Given the description of an element on the screen output the (x, y) to click on. 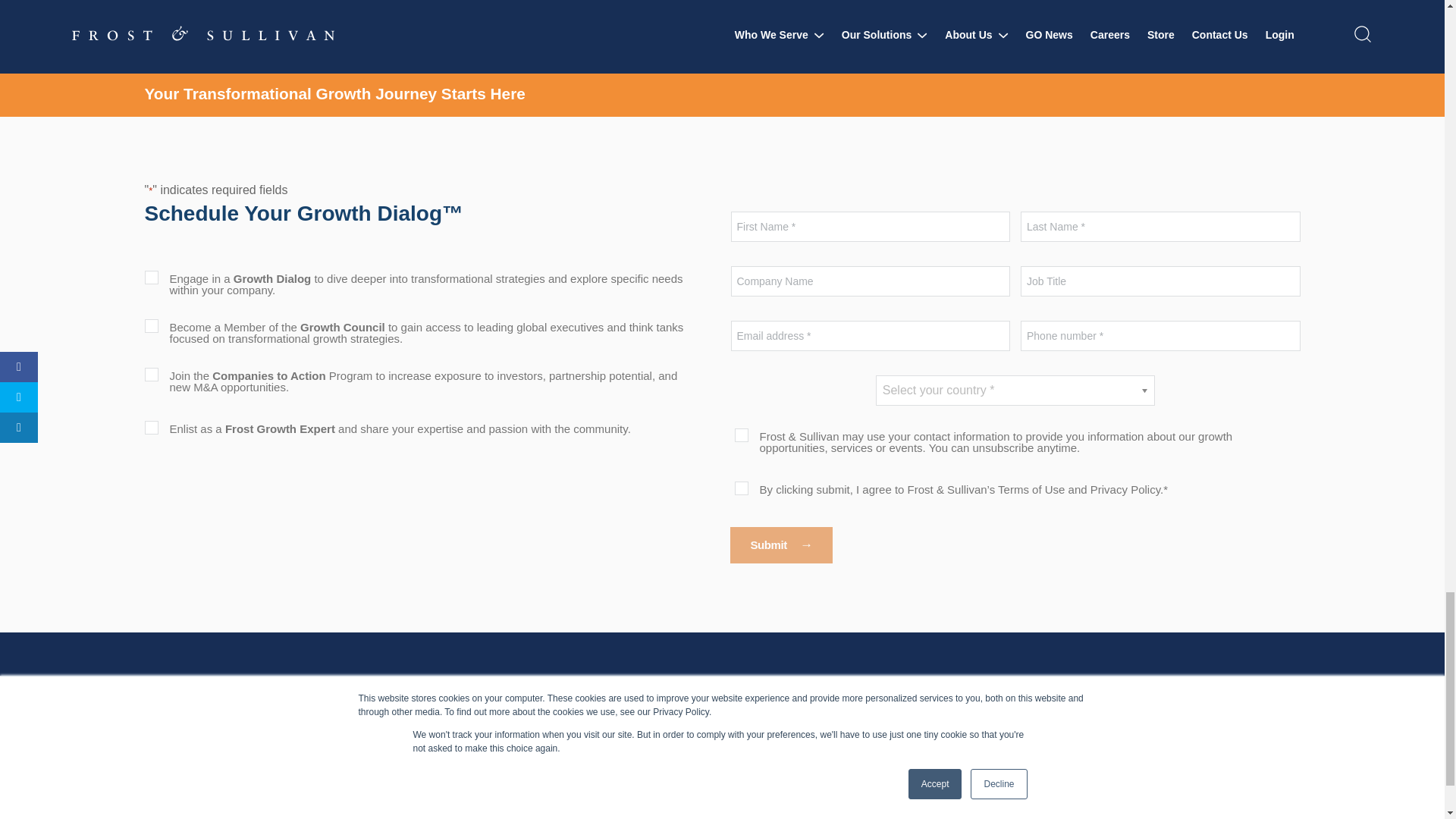
frostsullivanlogo (223, 692)
